Given the description of an element on the screen output the (x, y) to click on. 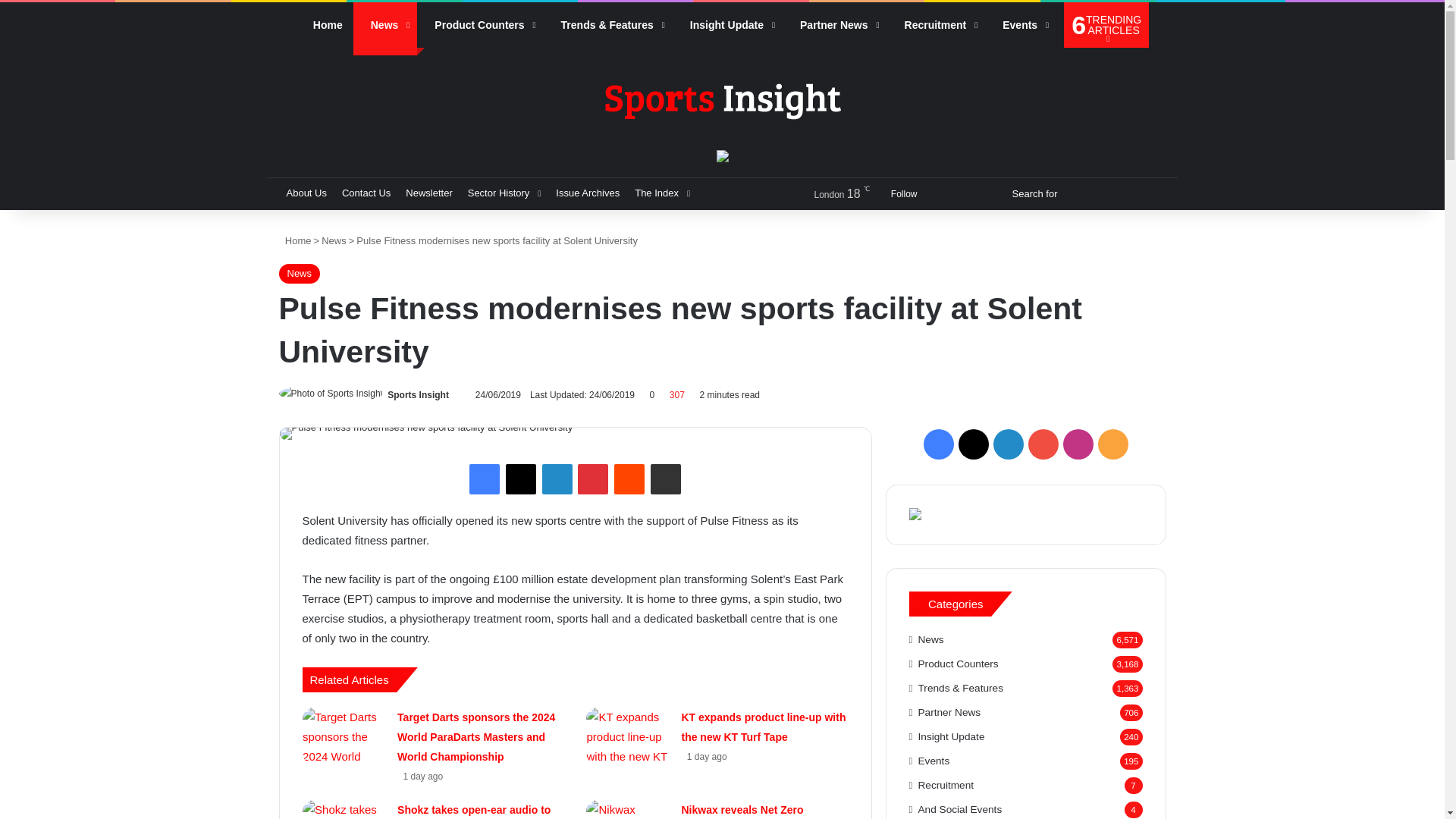
Pinterest (593, 479)
Sports Insight (721, 100)
Partner News (834, 24)
Home (324, 24)
Search for (1081, 193)
News (385, 24)
Recruitment (935, 24)
Insight Update (727, 24)
Product Counters (479, 24)
